Given the description of an element on the screen output the (x, y) to click on. 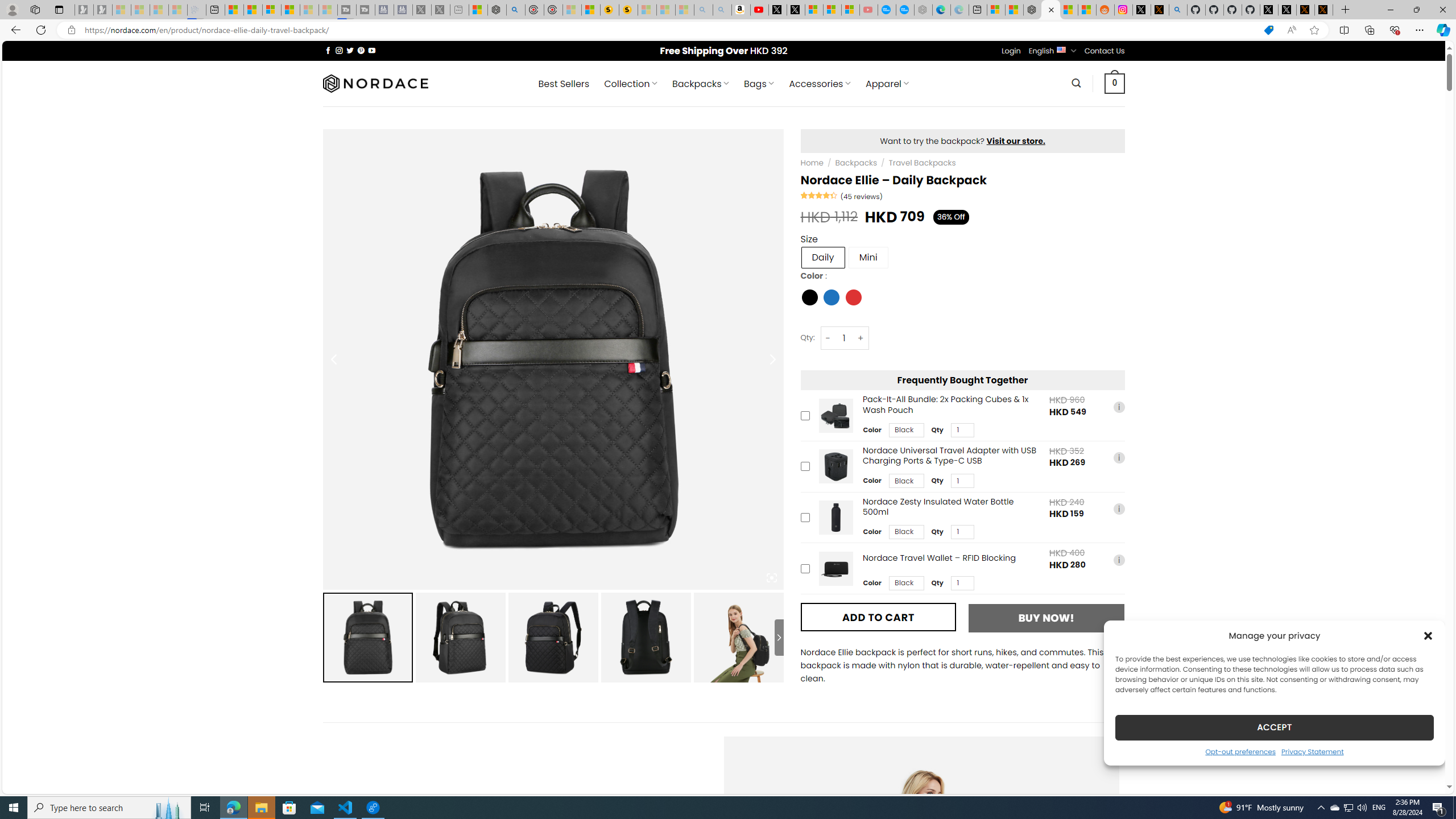
Add this product to cart (804, 568)
Follow on Twitter (349, 49)
ADD TO CART (878, 617)
Nordace Zesty Insulated Water Bottle 500ml (835, 517)
The most popular Google 'how to' searches (904, 9)
Day 1: Arriving in Yemen (surreal to be here) - YouTube (759, 9)
Microsoft Start - Sleeping (309, 9)
